Given the description of an element on the screen output the (x, y) to click on. 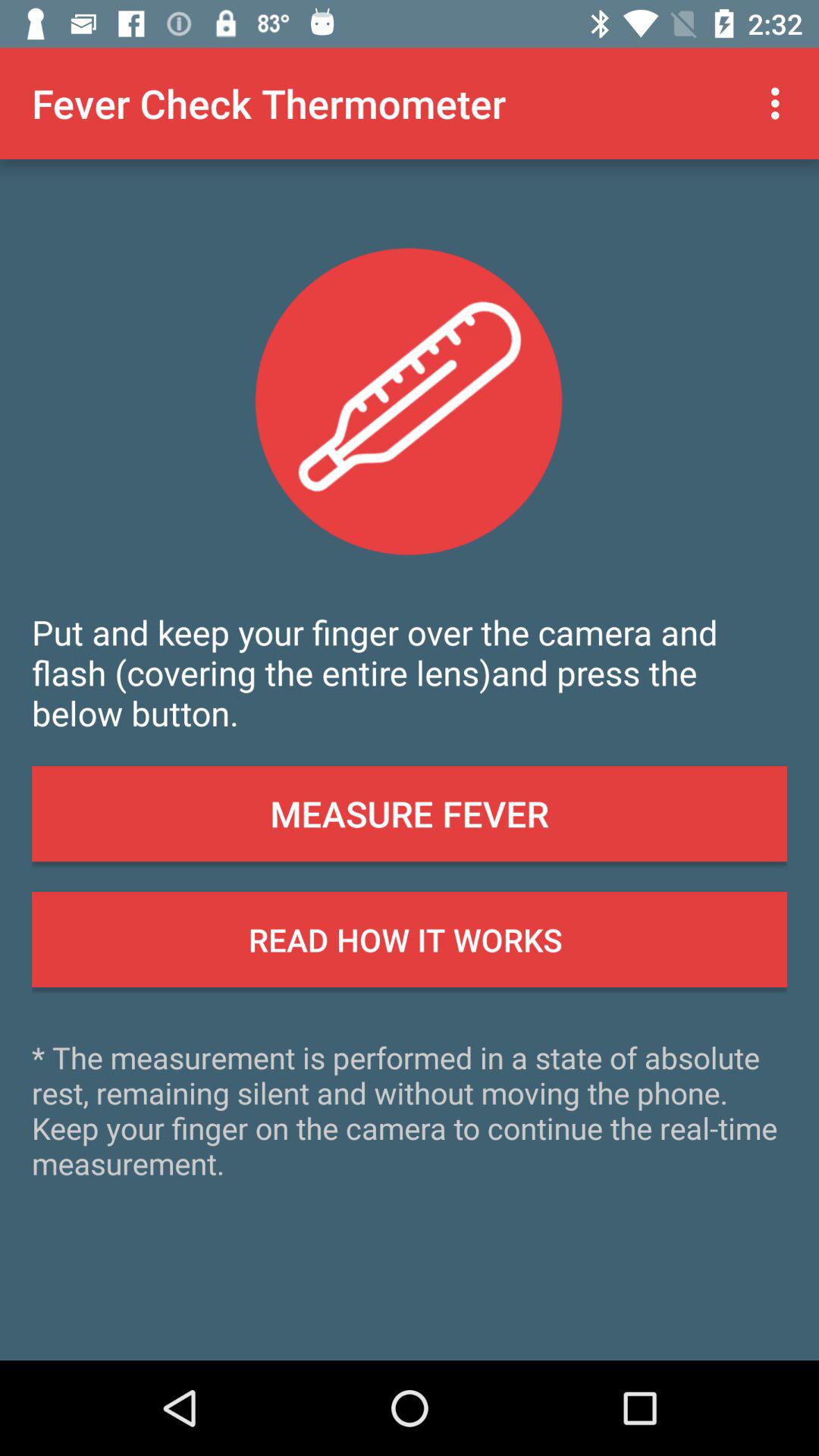
turn on the item above read how it button (409, 813)
